Given the description of an element on the screen output the (x, y) to click on. 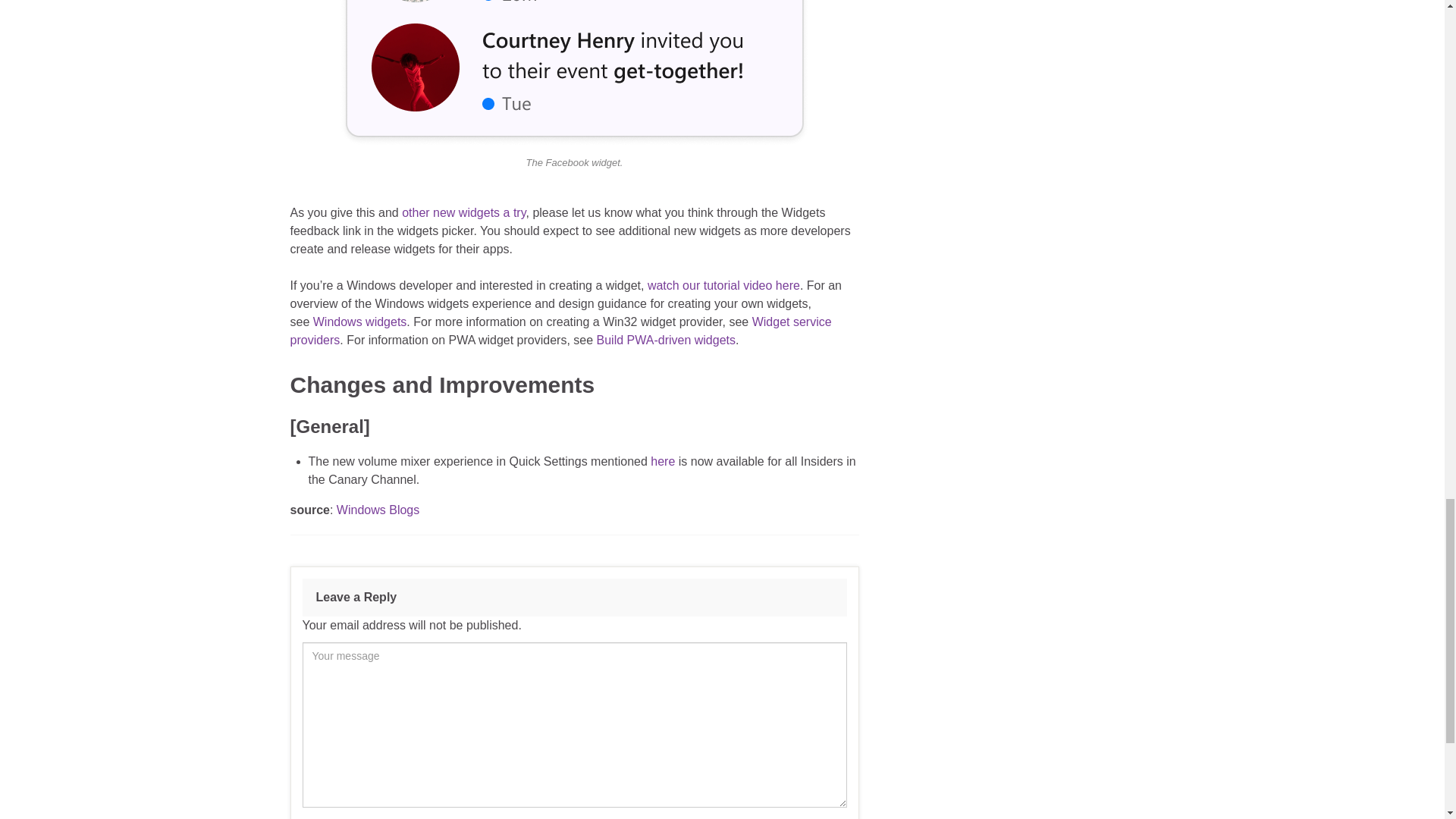
here (662, 461)
Widget service providers (560, 330)
Build PWA-driven widgets (665, 339)
Windows widgets (360, 321)
Windows Blogs (377, 509)
other new widgets a try (463, 212)
watch our tutorial video here (723, 285)
